Given the description of an element on the screen output the (x, y) to click on. 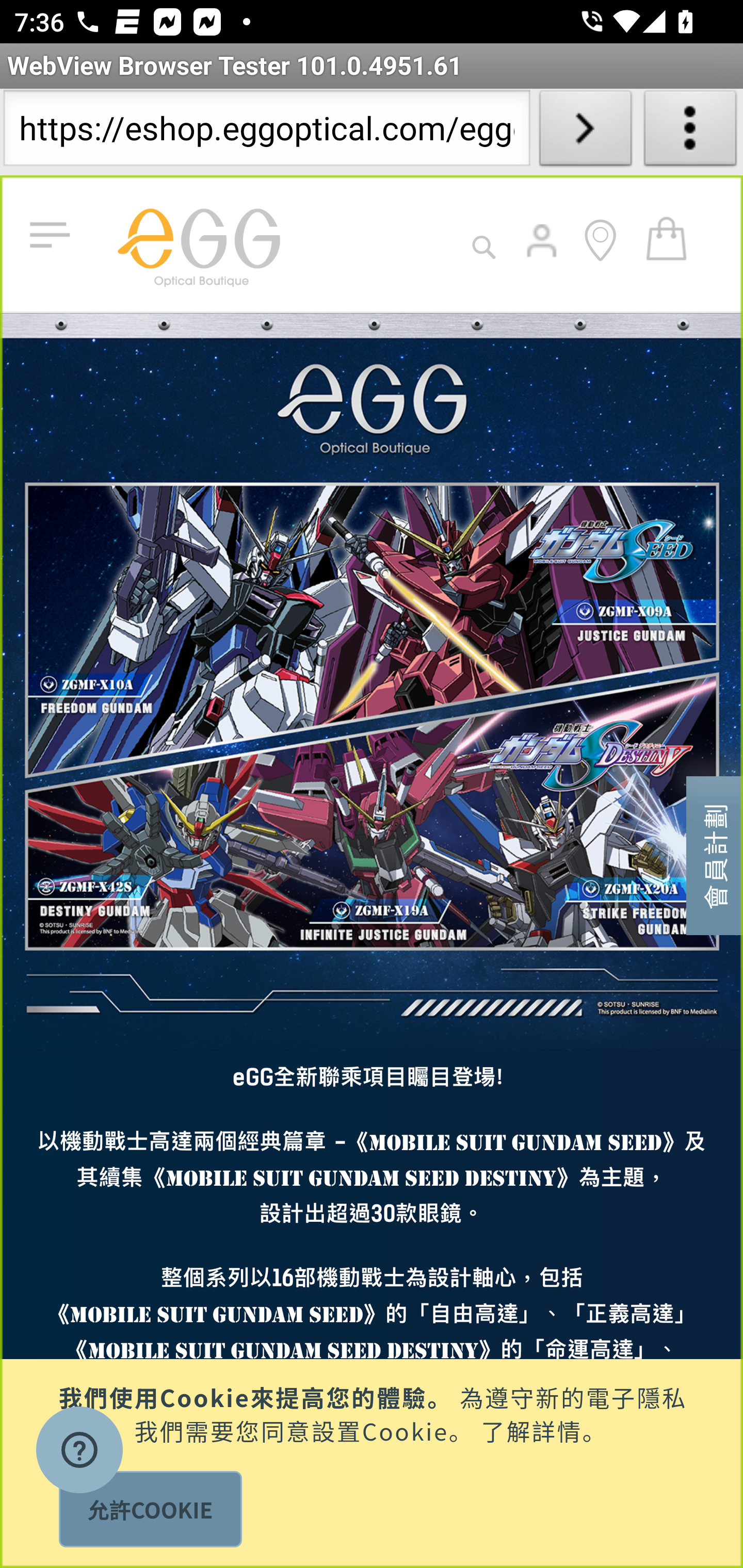
Load URL (585, 132)
About WebView (690, 132)
store logo eGG 網上商店 (198, 243)
切換導航 (54, 235)
我的購物車 (666, 237)
login (543, 254)
會員計劃 (714, 854)
Opens a widget where you can find more information (79, 1452)
了解詳情 (531, 1429)
允許COOKIE (149, 1509)
